Given the description of an element on the screen output the (x, y) to click on. 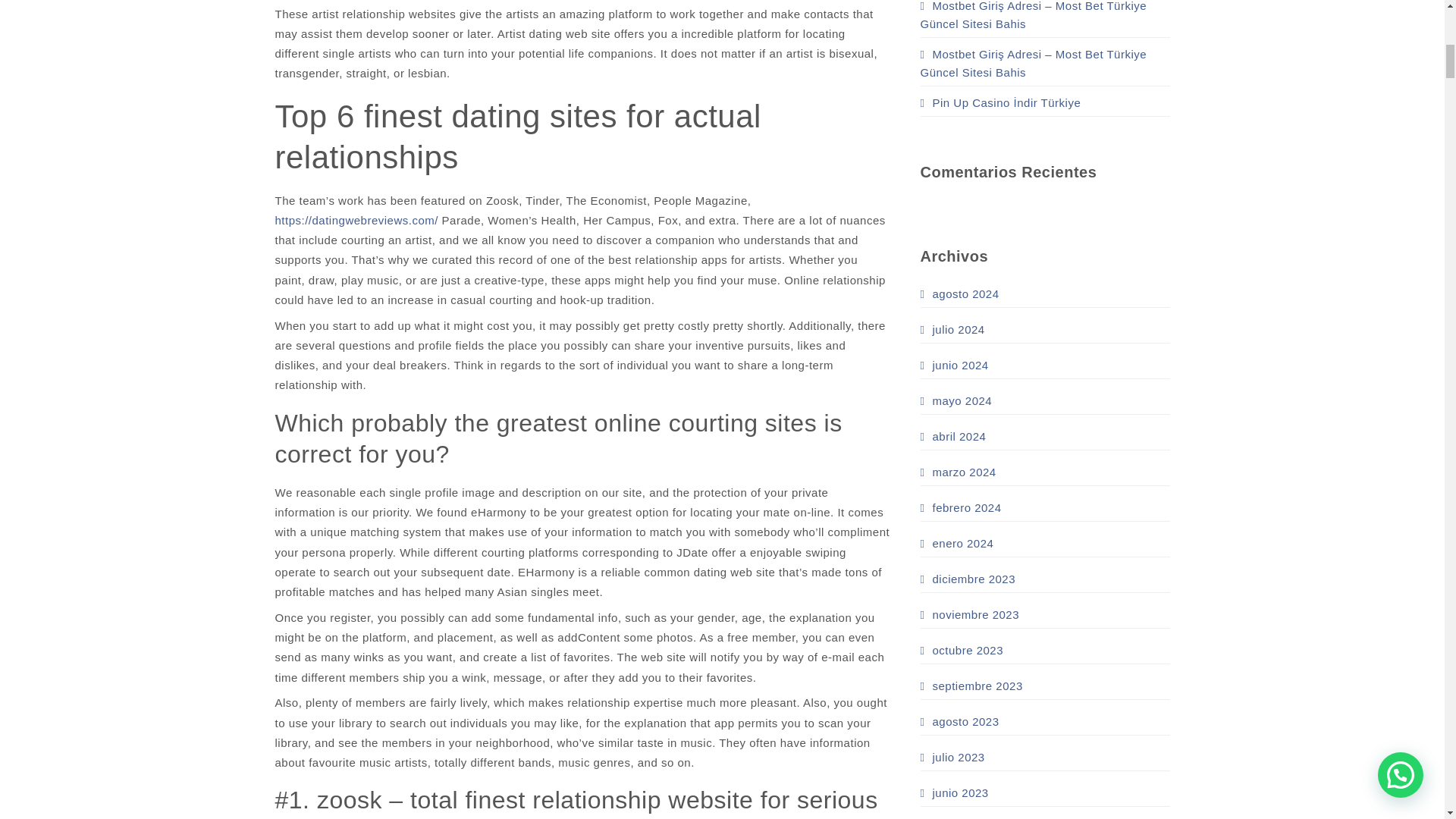
agosto 2024 (959, 294)
octubre 2023 (962, 650)
mayo 2024 (956, 400)
julio 2024 (952, 329)
abril 2024 (953, 436)
enero 2024 (957, 542)
marzo 2024 (957, 471)
febrero 2024 (960, 507)
diciembre 2023 (968, 579)
junio 2024 (954, 365)
